Given the description of an element on the screen output the (x, y) to click on. 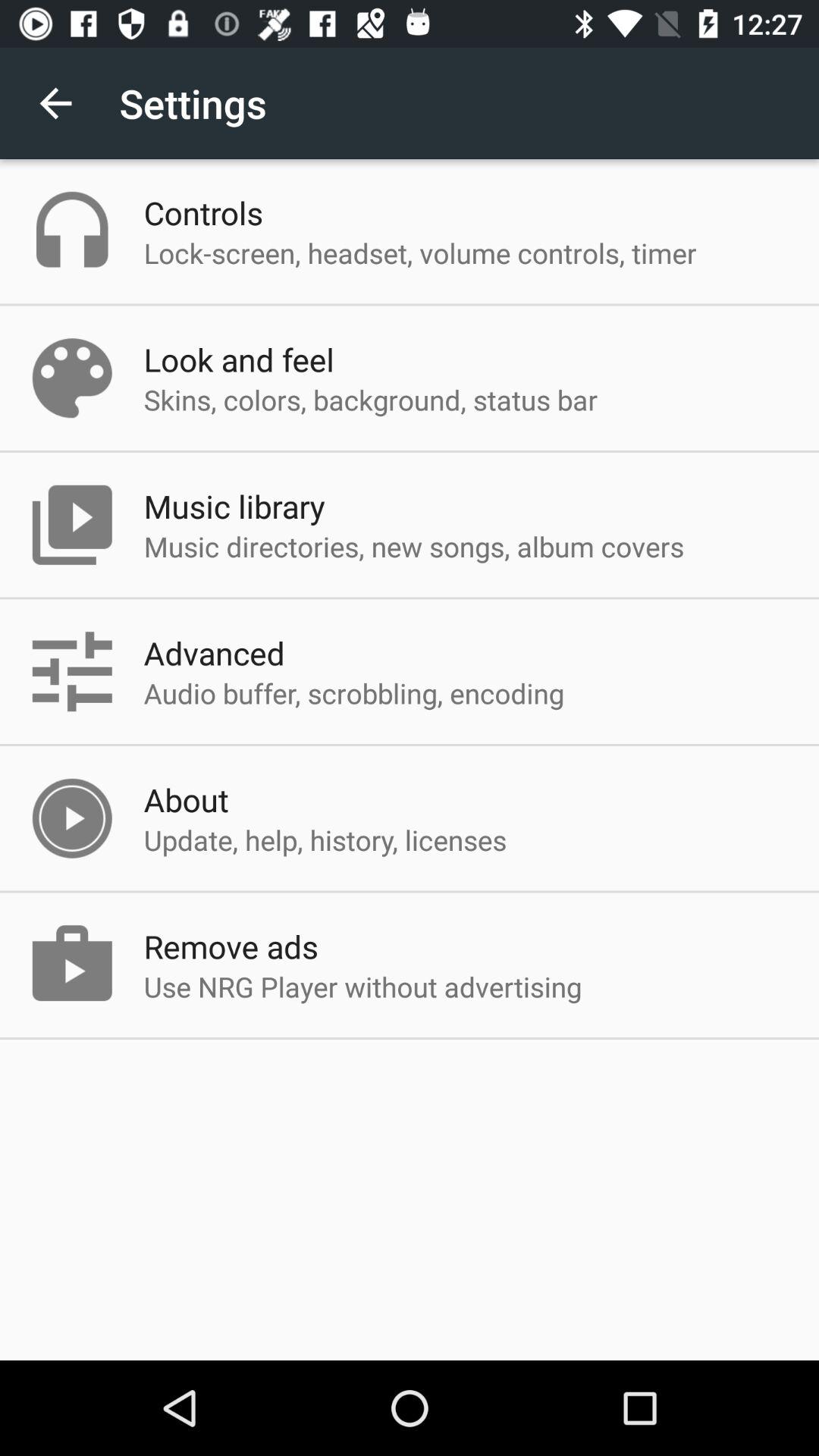
click icon above remove ads app (324, 839)
